Given the description of an element on the screen output the (x, y) to click on. 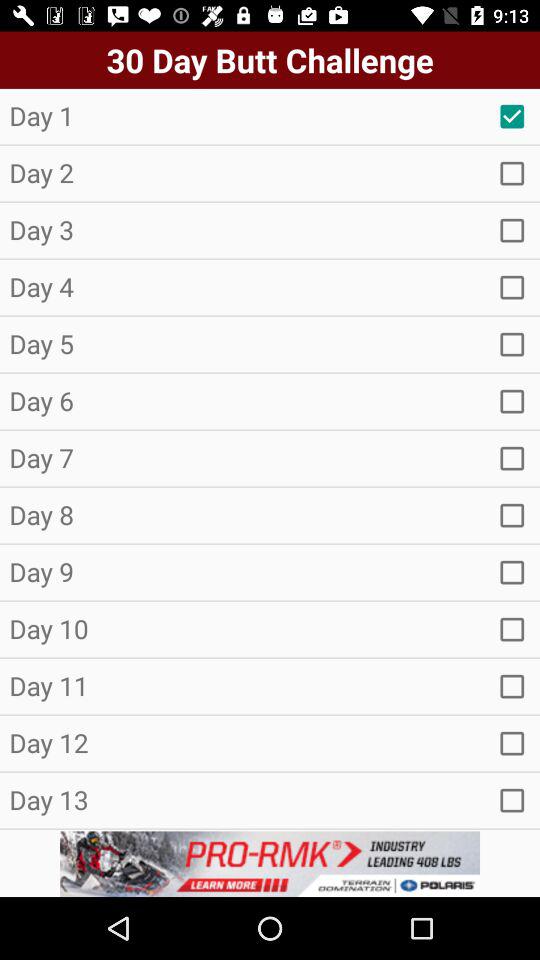
empty box option (512, 458)
